Given the description of an element on the screen output the (x, y) to click on. 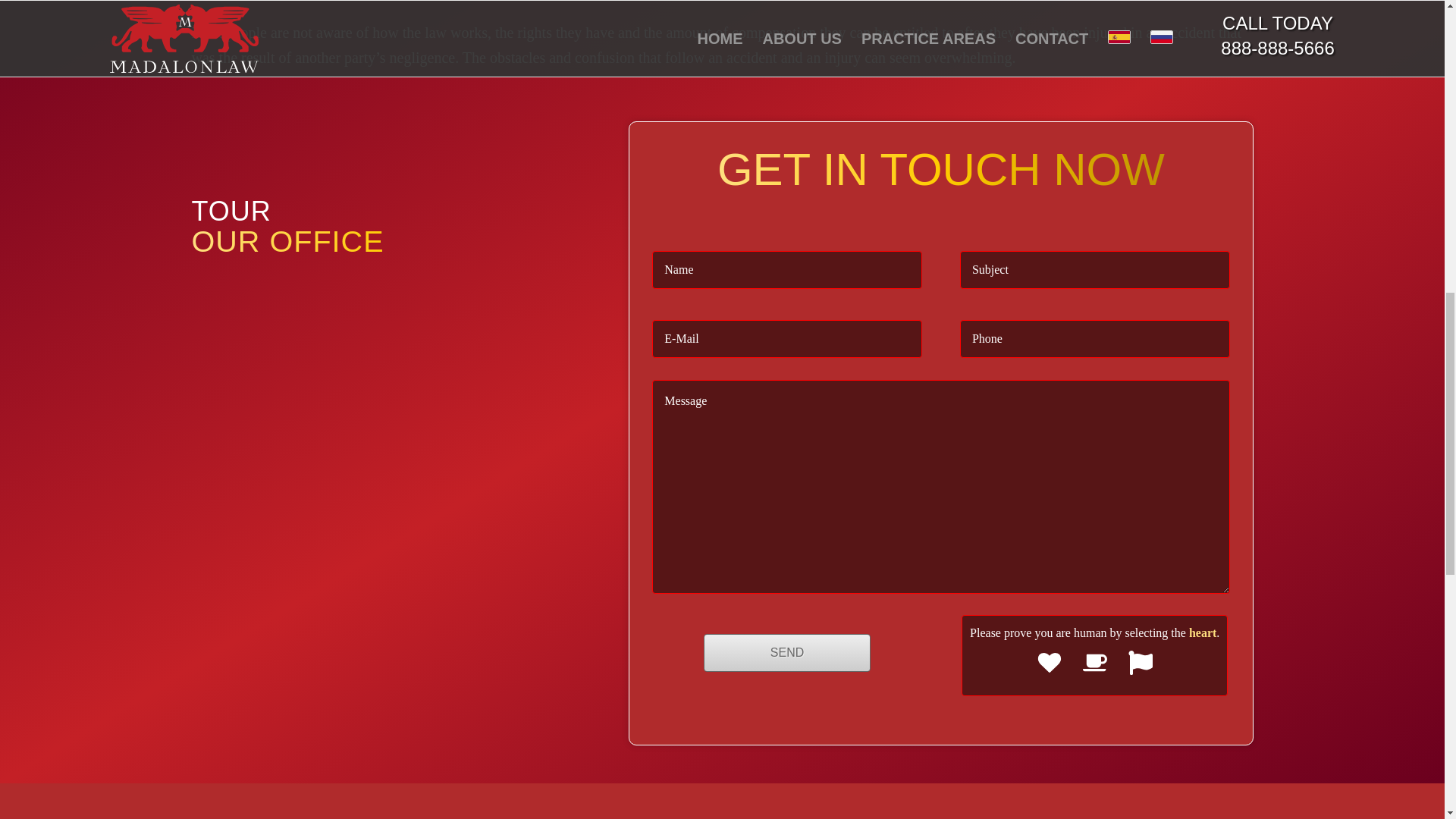
SEND (786, 652)
SEND (786, 652)
